Given the description of an element on the screen output the (x, y) to click on. 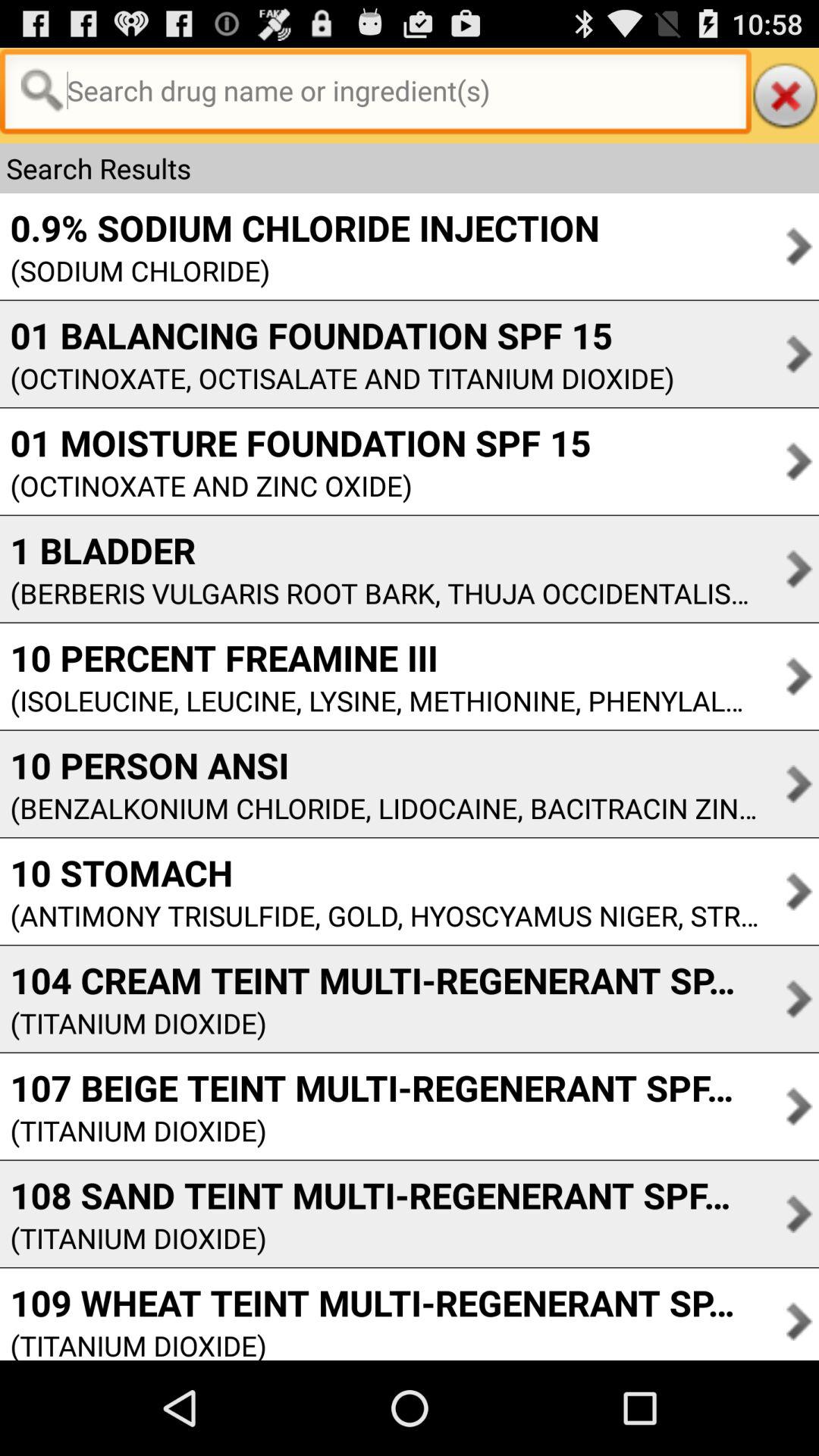
swipe to 10 person ansi item (379, 765)
